Given the description of an element on the screen output the (x, y) to click on. 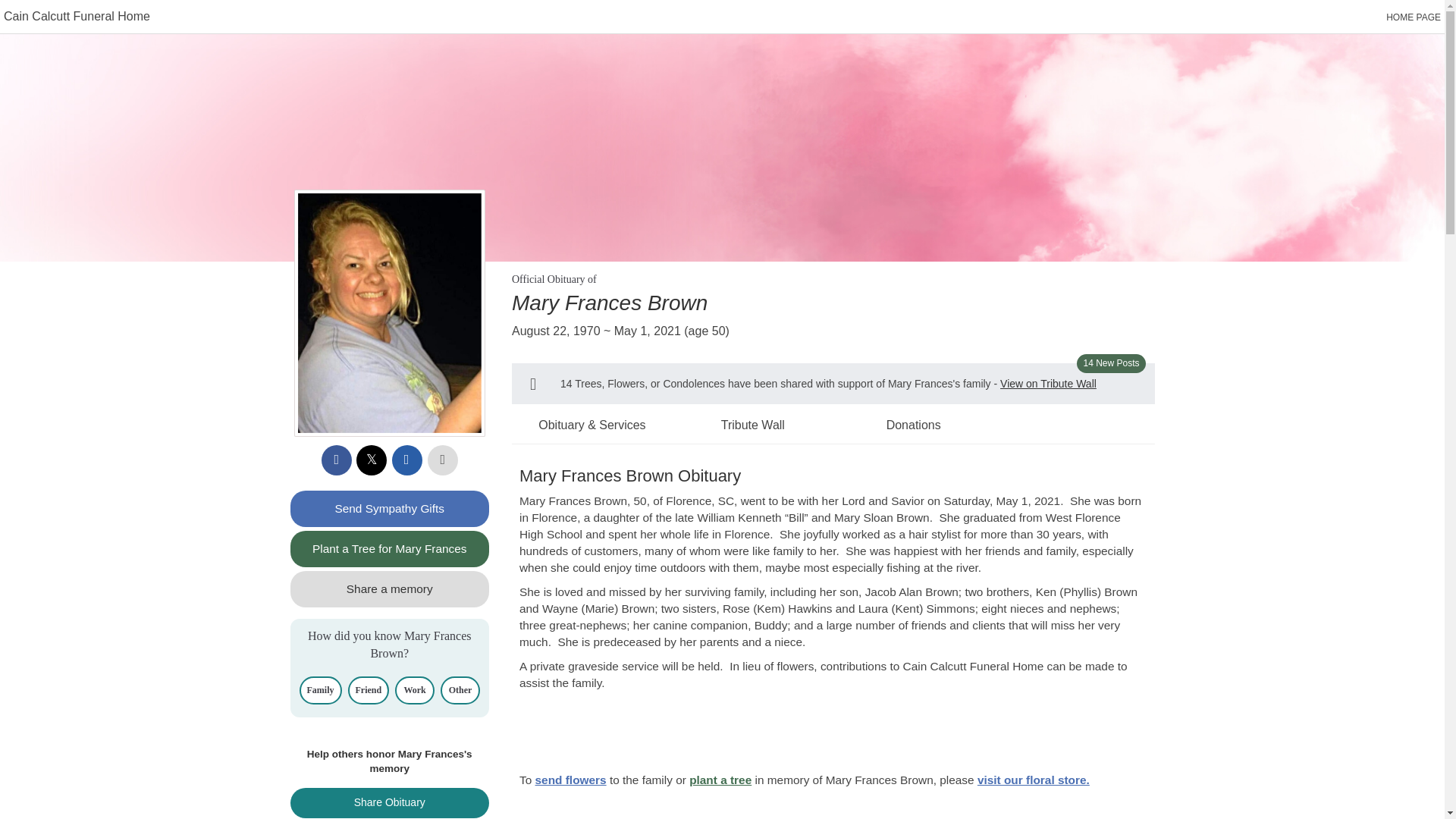
Share to Facebook (336, 460)
Share on X (371, 460)
Cain Calcutt Funeral Home (76, 15)
plant a tree (719, 779)
View on Tribute Wall (1048, 383)
Share Obituary (389, 802)
Share via email (406, 460)
Printable copy (443, 460)
Send Sympathy Gifts (389, 508)
Share a memory (389, 588)
Plant a Tree for Mary Frances (389, 548)
HOME PAGE (1413, 17)
send flowers (571, 779)
visit our floral store. (1032, 779)
